Given the description of an element on the screen output the (x, y) to click on. 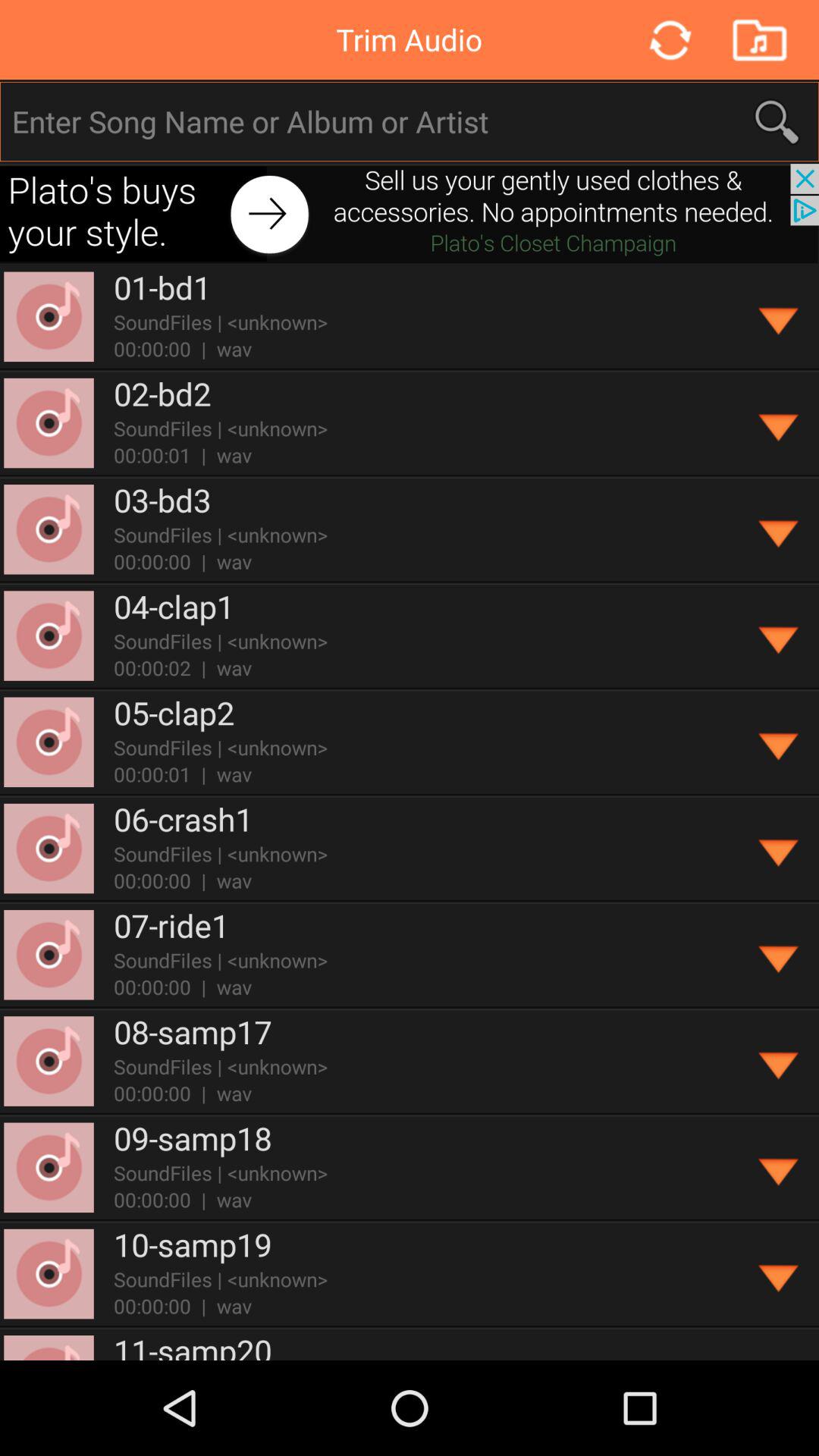
go to music folder (759, 39)
